Given the description of an element on the screen output the (x, y) to click on. 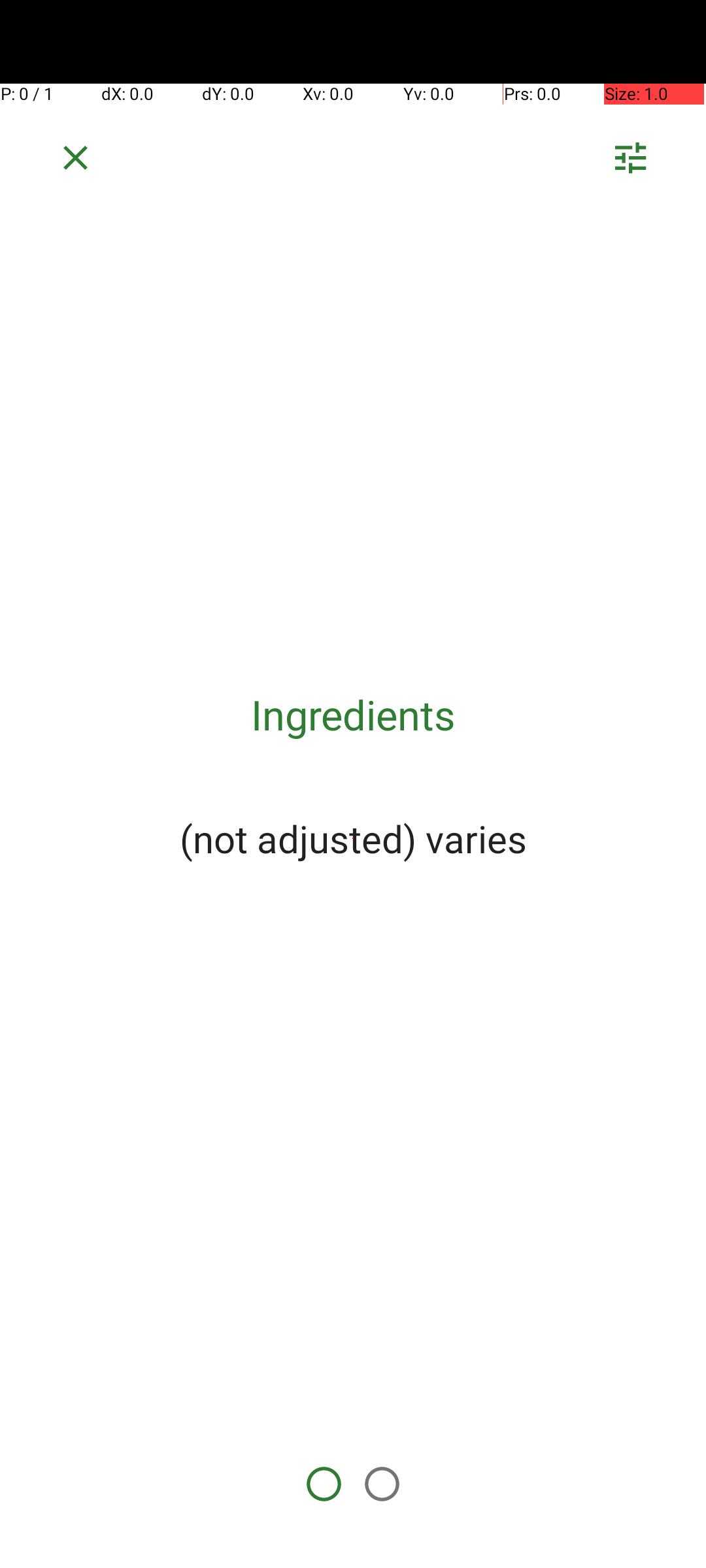
(not adjusted) varies Element type: android.widget.TextView (352, 838)
